Given the description of an element on the screen output the (x, y) to click on. 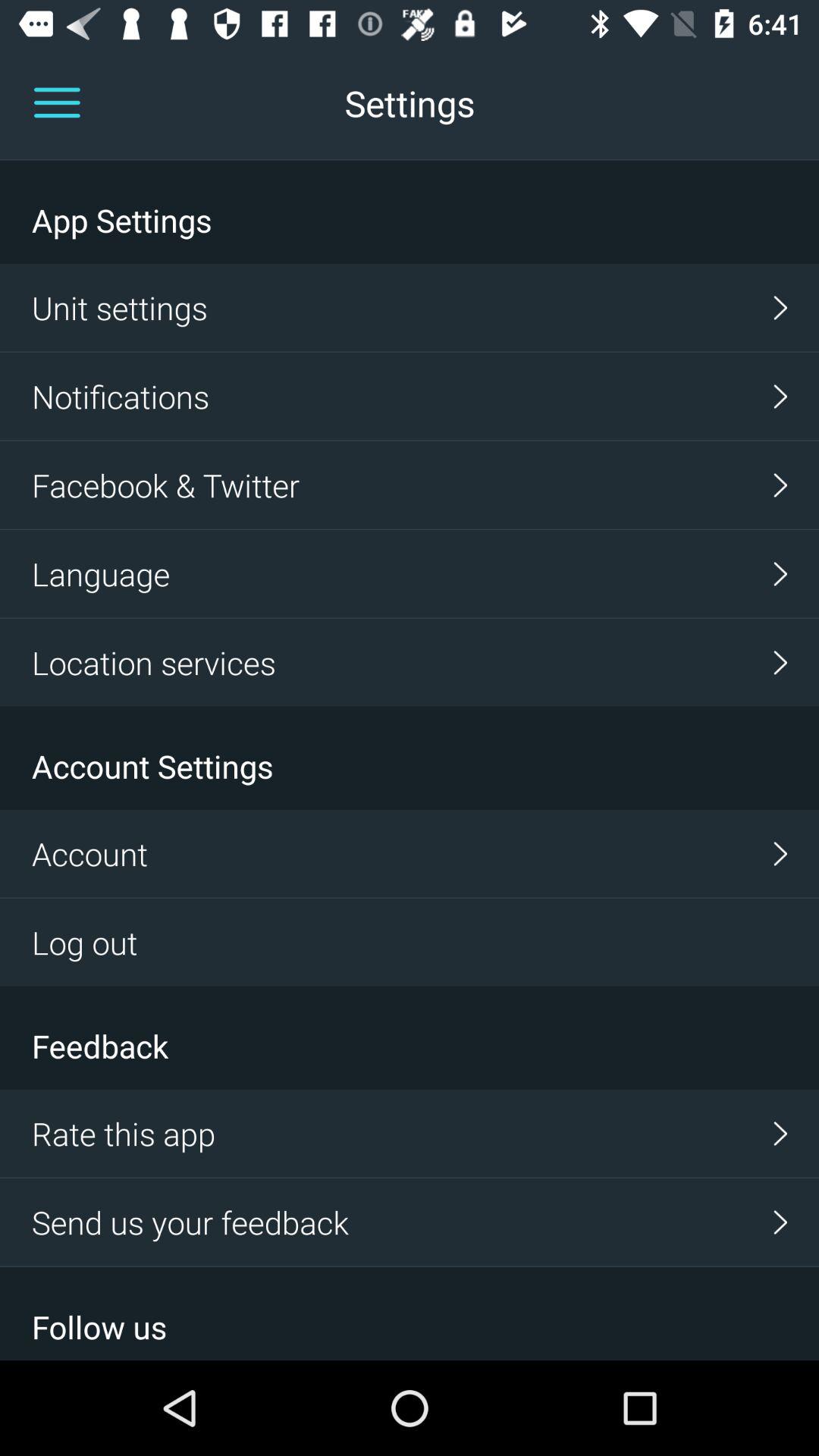
go to main menu (57, 103)
